Given the description of an element on the screen output the (x, y) to click on. 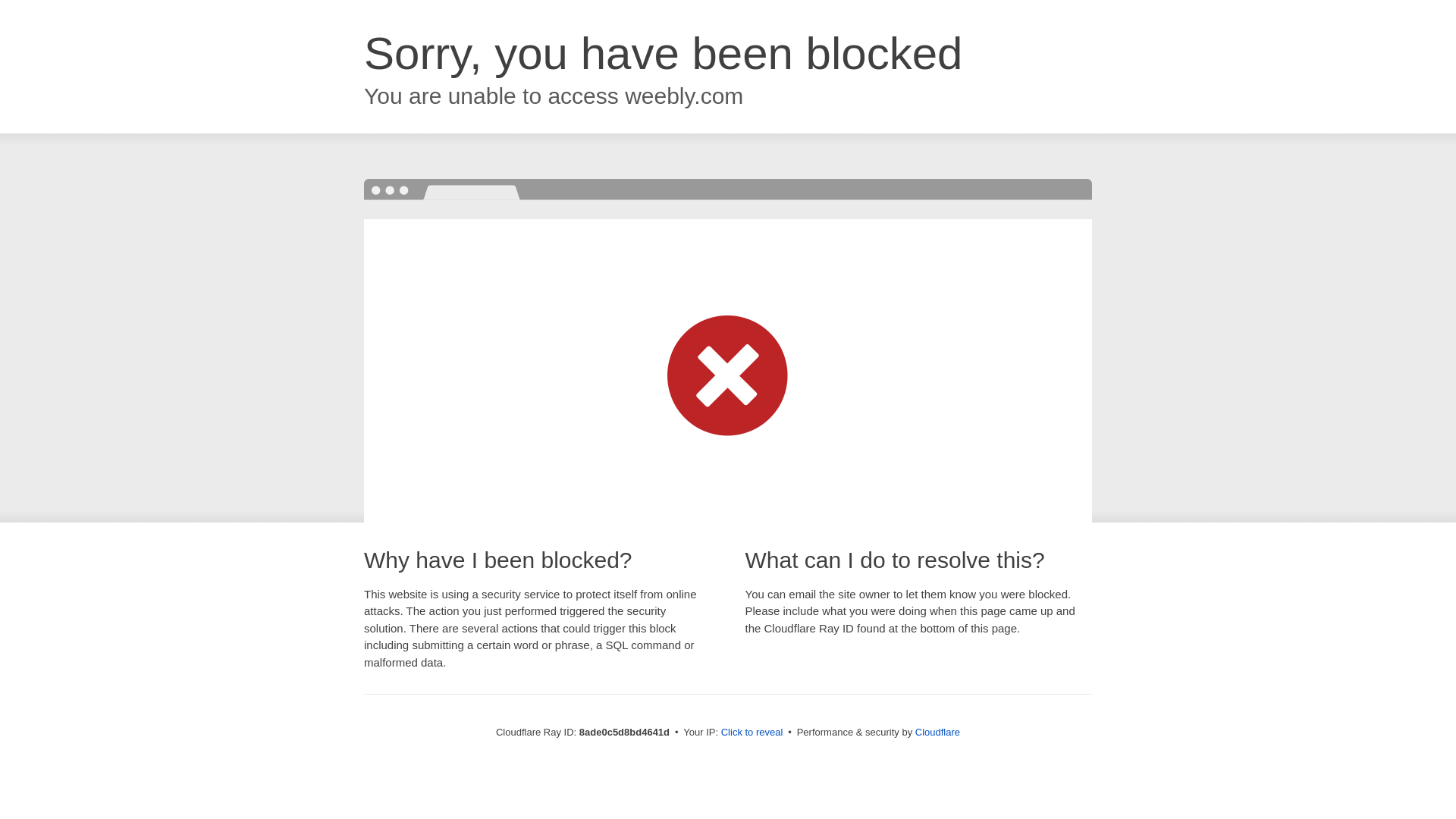
Cloudflare (937, 731)
Click to reveal (751, 732)
